Given the description of an element on the screen output the (x, y) to click on. 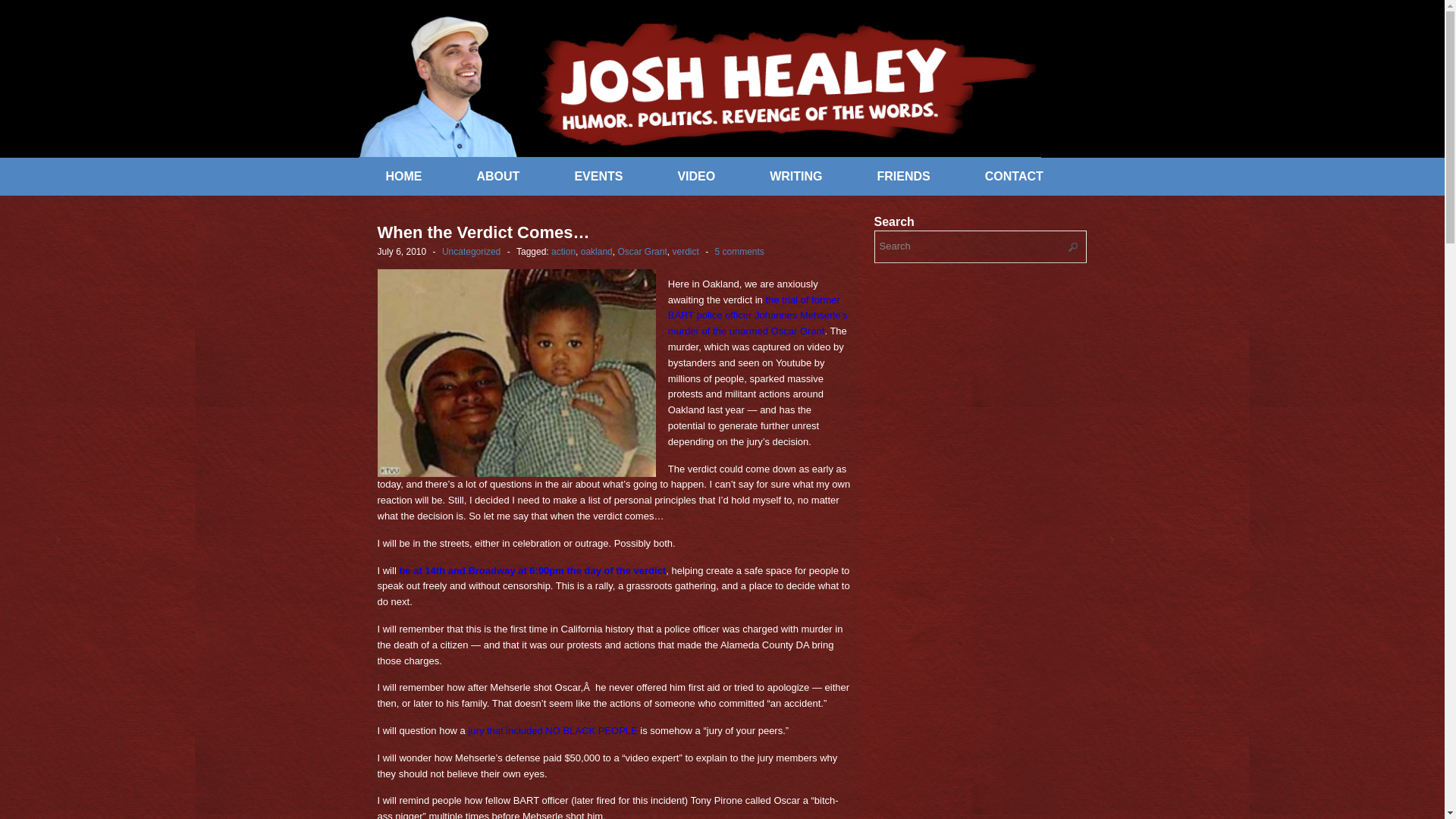
Josh Healey (699, 85)
WRITING (795, 176)
HOME (403, 176)
verdict (684, 251)
VIDEO (695, 176)
Oscar Grant (641, 251)
oscaranddaughter (516, 372)
oakland (596, 251)
ABOUT (497, 176)
EVENTS (598, 176)
